Given the description of an element on the screen output the (x, y) to click on. 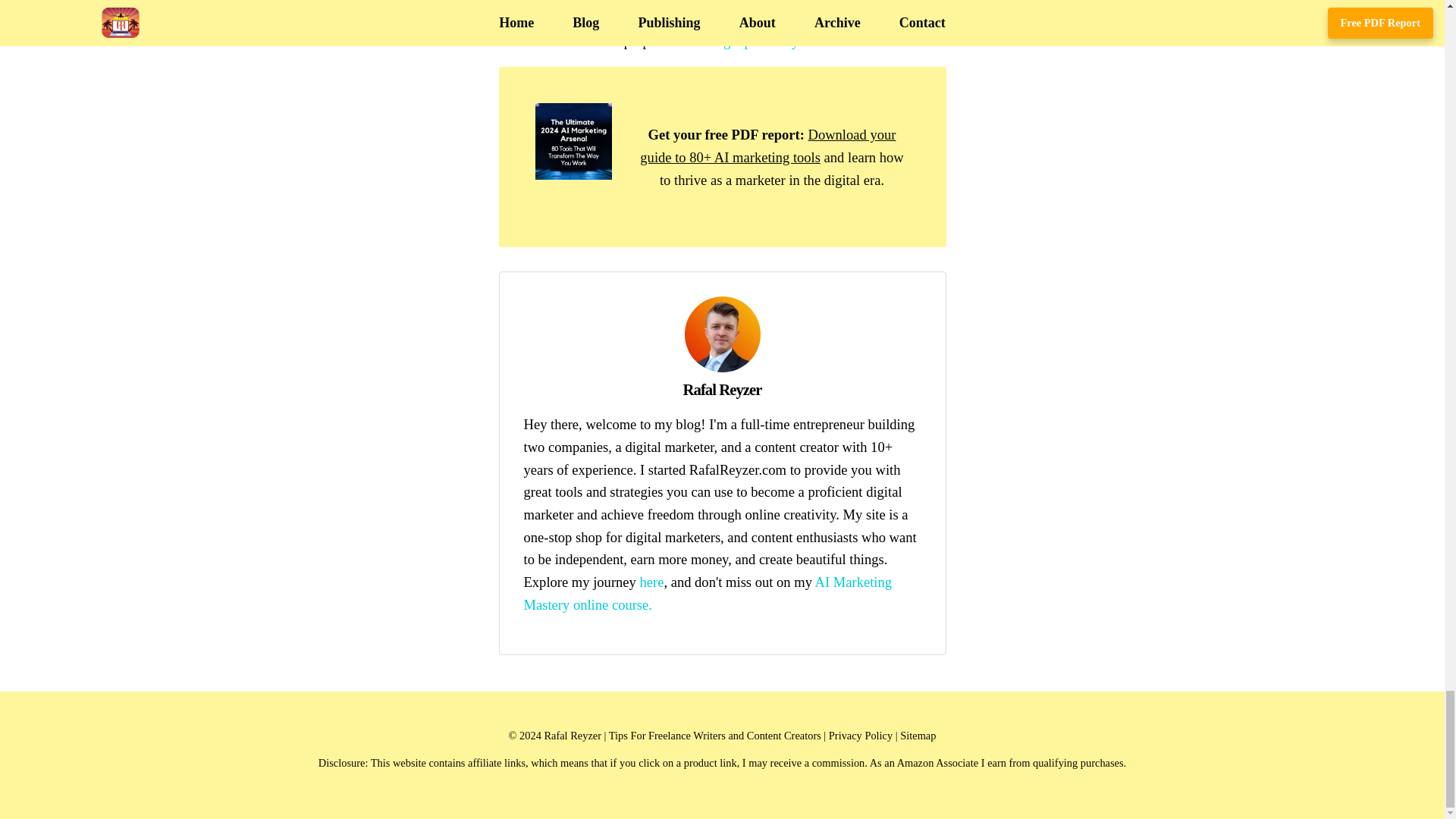
AI Marketing Mastery online course. (706, 593)
AI marketing tools (573, 174)
invoice to get paid for your freelance work (784, 41)
here (651, 581)
AI marketing tools (767, 145)
